Given the description of an element on the screen output the (x, y) to click on. 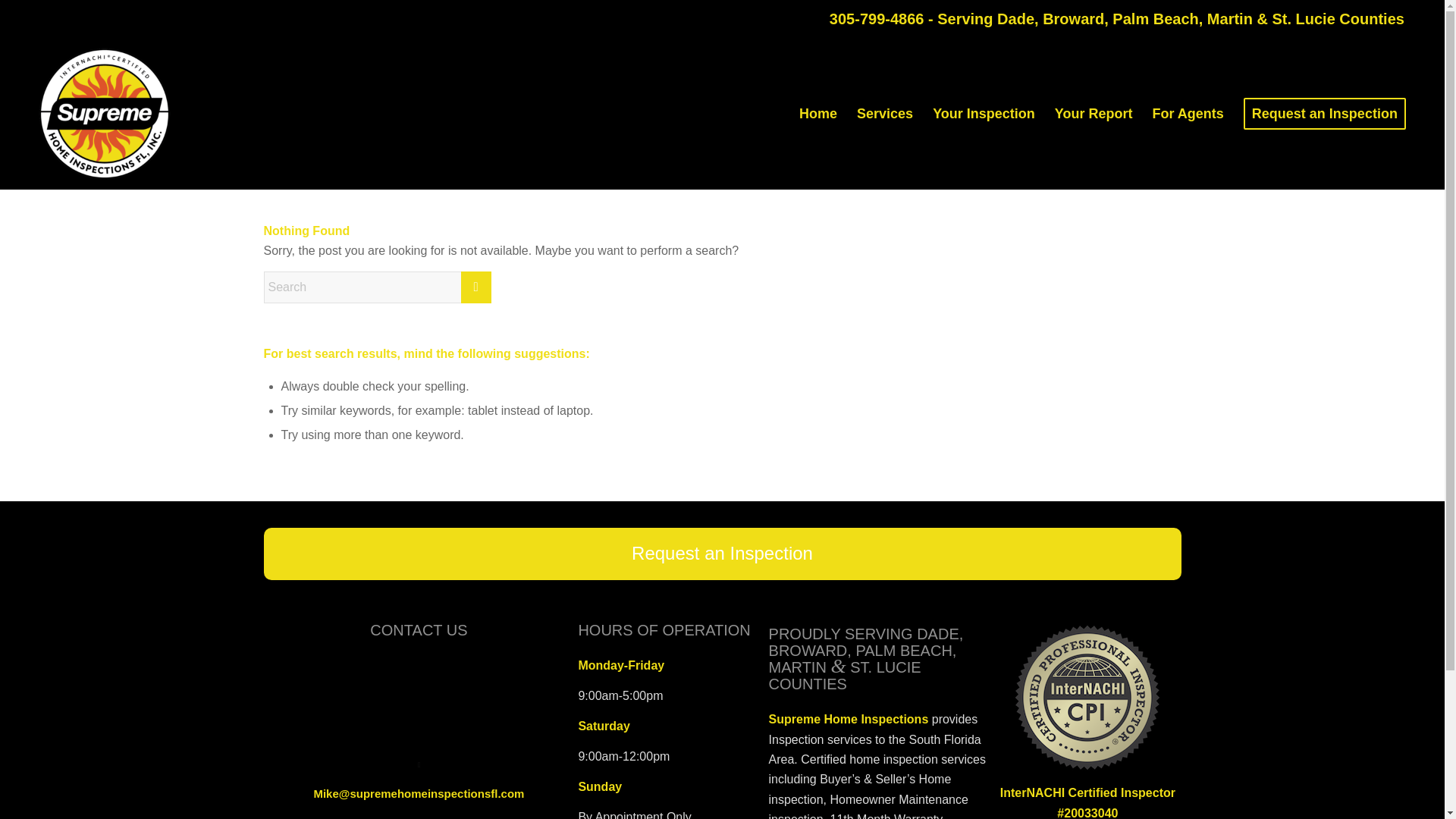
Click to start search (476, 287)
Request an Inspection (1324, 113)
Request an Inspection (721, 553)
certified-professional-inspector (1087, 697)
305-799-4866 (876, 18)
